Given the description of an element on the screen output the (x, y) to click on. 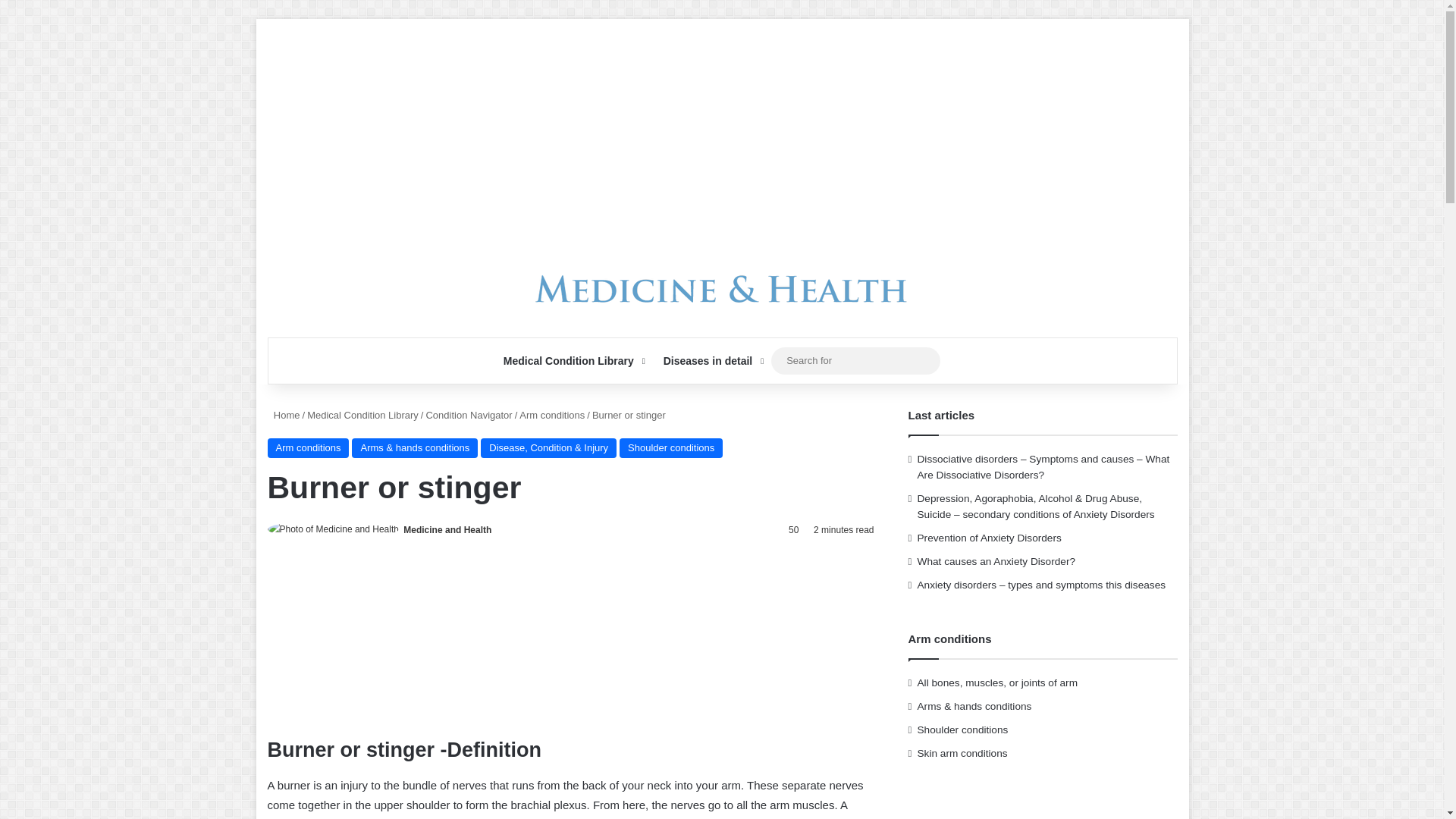
Medicine and Health (447, 529)
English (696, 23)
Arm conditions (552, 414)
Diseases in detail (711, 361)
Medicine and Health (447, 529)
Condition Navigator (468, 414)
Search for (925, 360)
Shoulder conditions (671, 447)
Medical Condition Library (363, 414)
Arm conditions (307, 447)
Deutsch (713, 23)
Medicine and Health (721, 289)
Medical Condition Library (572, 361)
Search for (855, 360)
Home (282, 414)
